Given the description of an element on the screen output the (x, y) to click on. 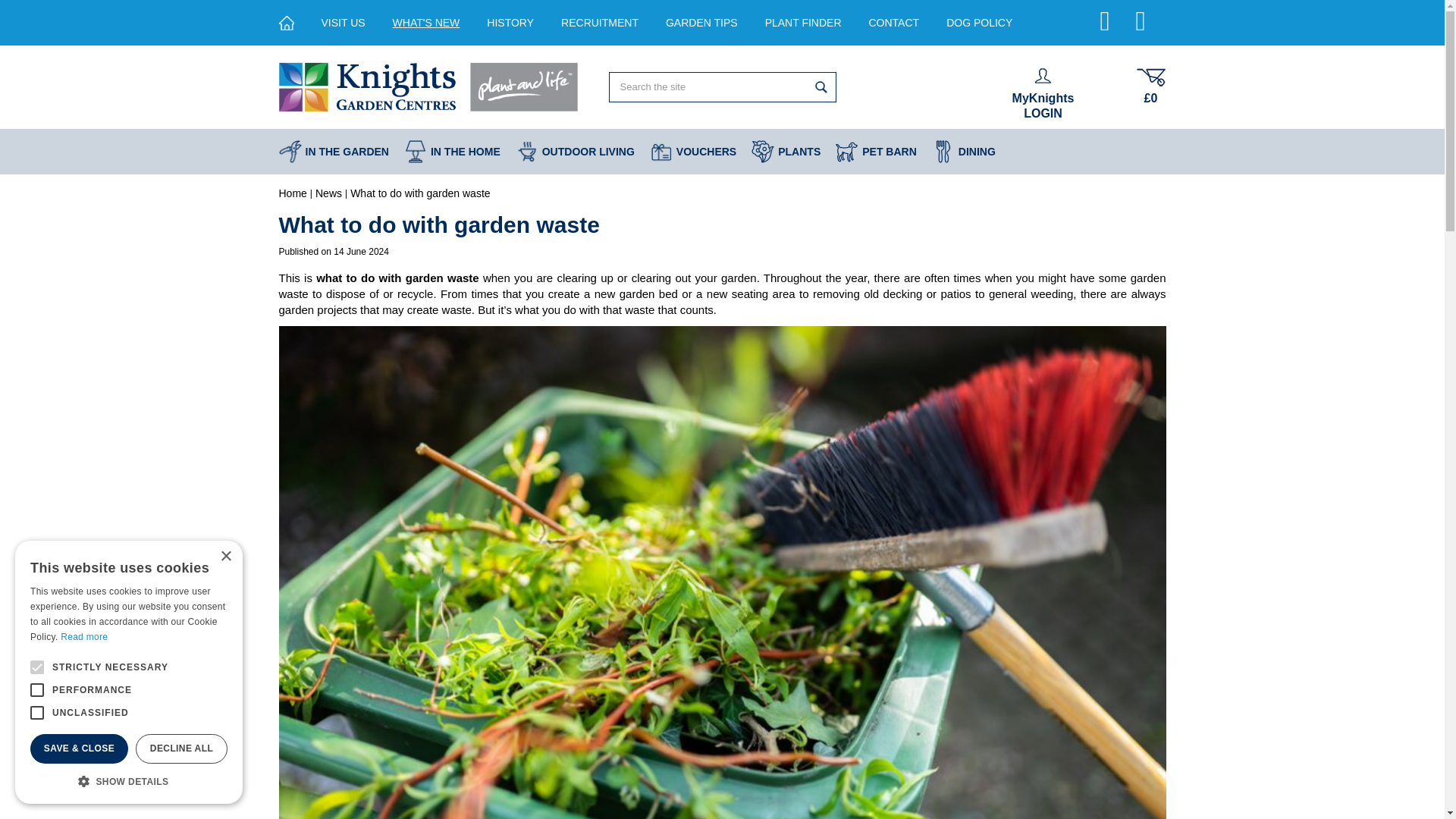
RECRUITMENT (599, 22)
Garden Tips (701, 22)
Home (293, 193)
What's New (426, 22)
Go to the shopping cart (1150, 86)
News (328, 193)
CONTACT (894, 22)
Home (293, 193)
Knights Garden Centres in the UK (429, 86)
GARDEN TIPS (701, 22)
Contact (894, 22)
WHAT'S NEW (426, 22)
History (510, 22)
In the garden (333, 151)
MyKnights LOGIN (1042, 94)
